Given the description of an element on the screen output the (x, y) to click on. 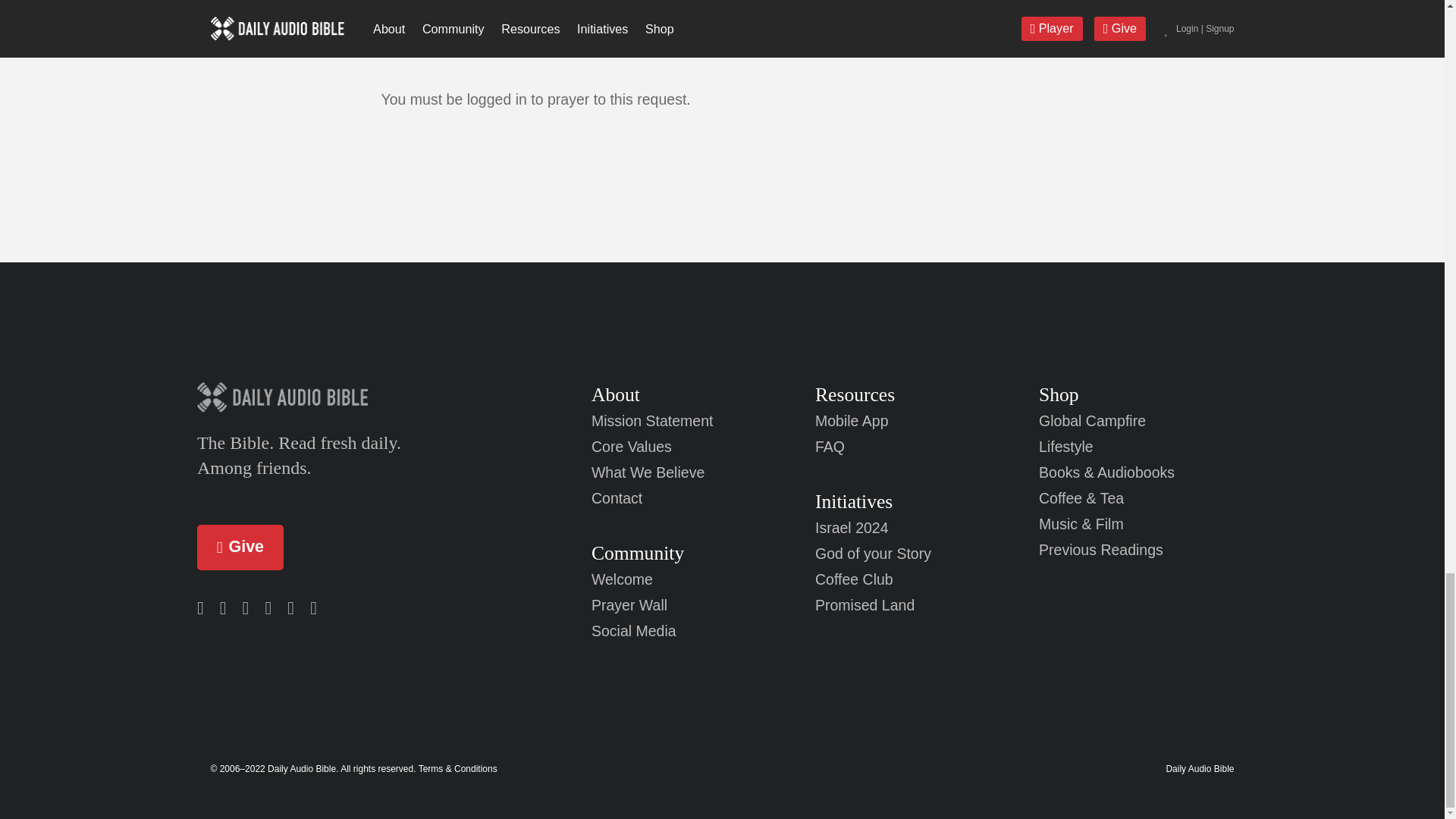
Daily Audio Bible (1199, 768)
Daily Audio Bible (340, 397)
